Given the description of an element on the screen output the (x, y) to click on. 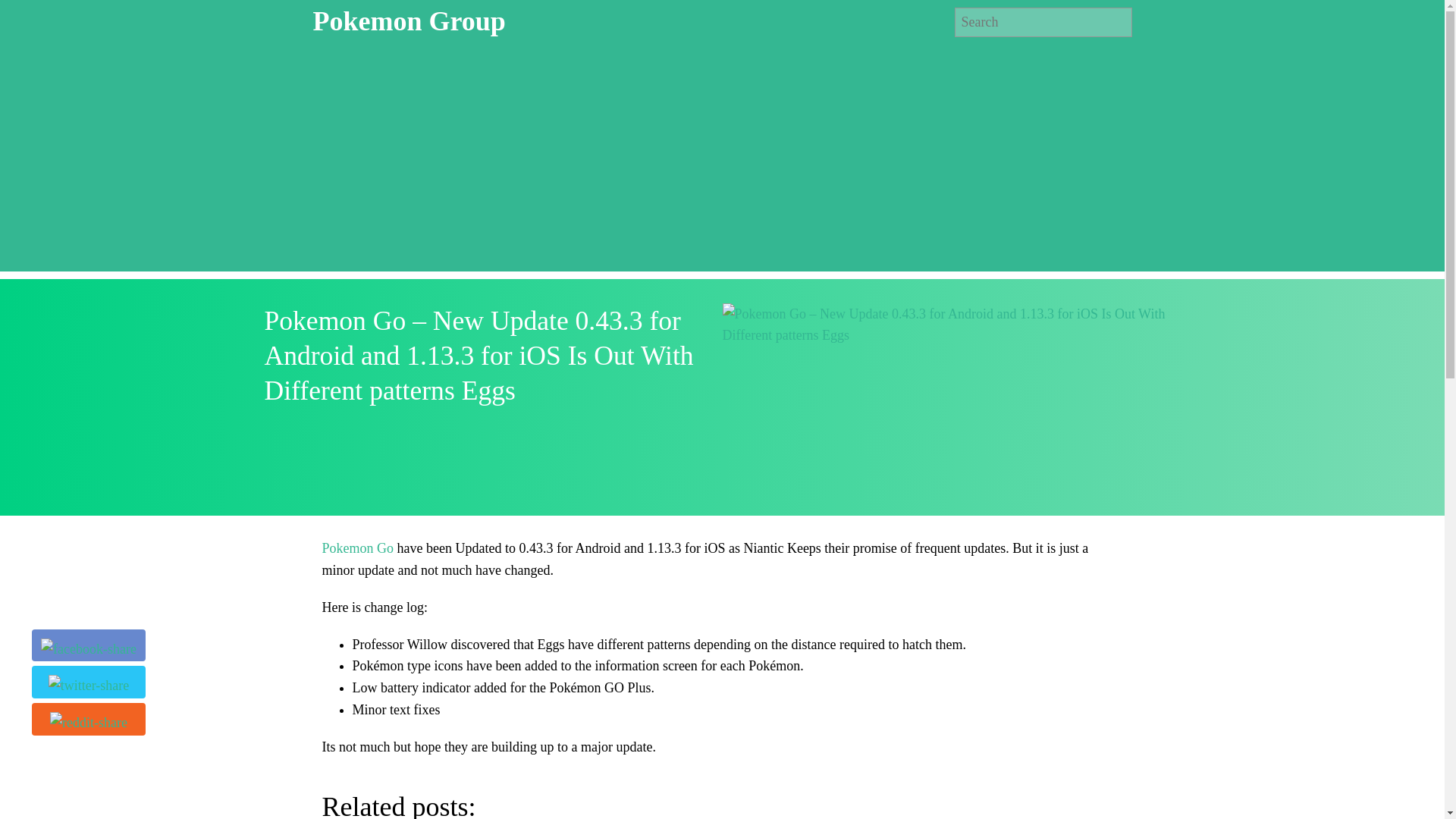
Pokemon Go (357, 548)
App Update (728, 480)
Pokemon Group (409, 20)
Pokemon Go (804, 480)
